Given the description of an element on the screen output the (x, y) to click on. 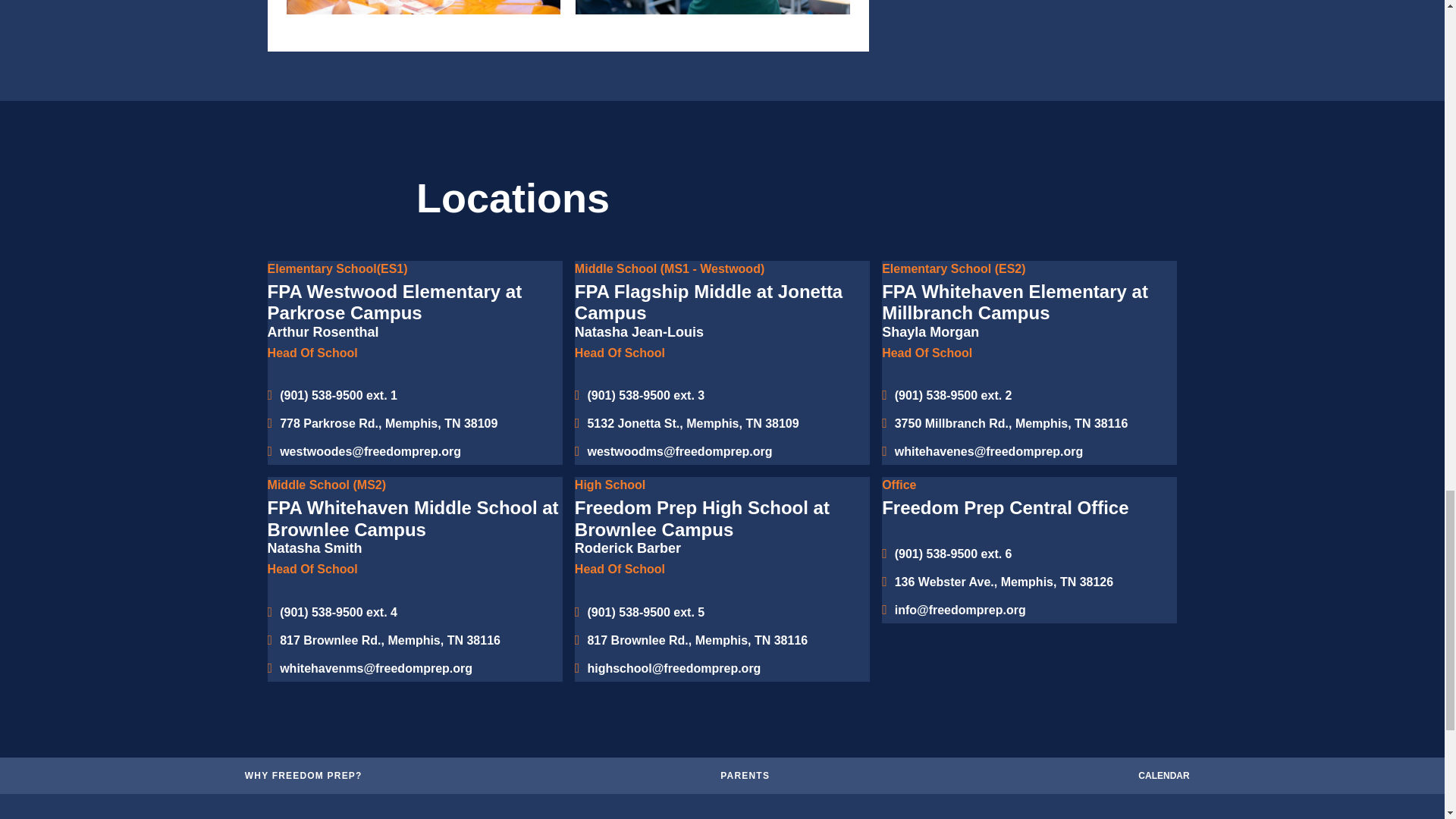
CALENDAR (1164, 775)
